Given the description of an element on the screen output the (x, y) to click on. 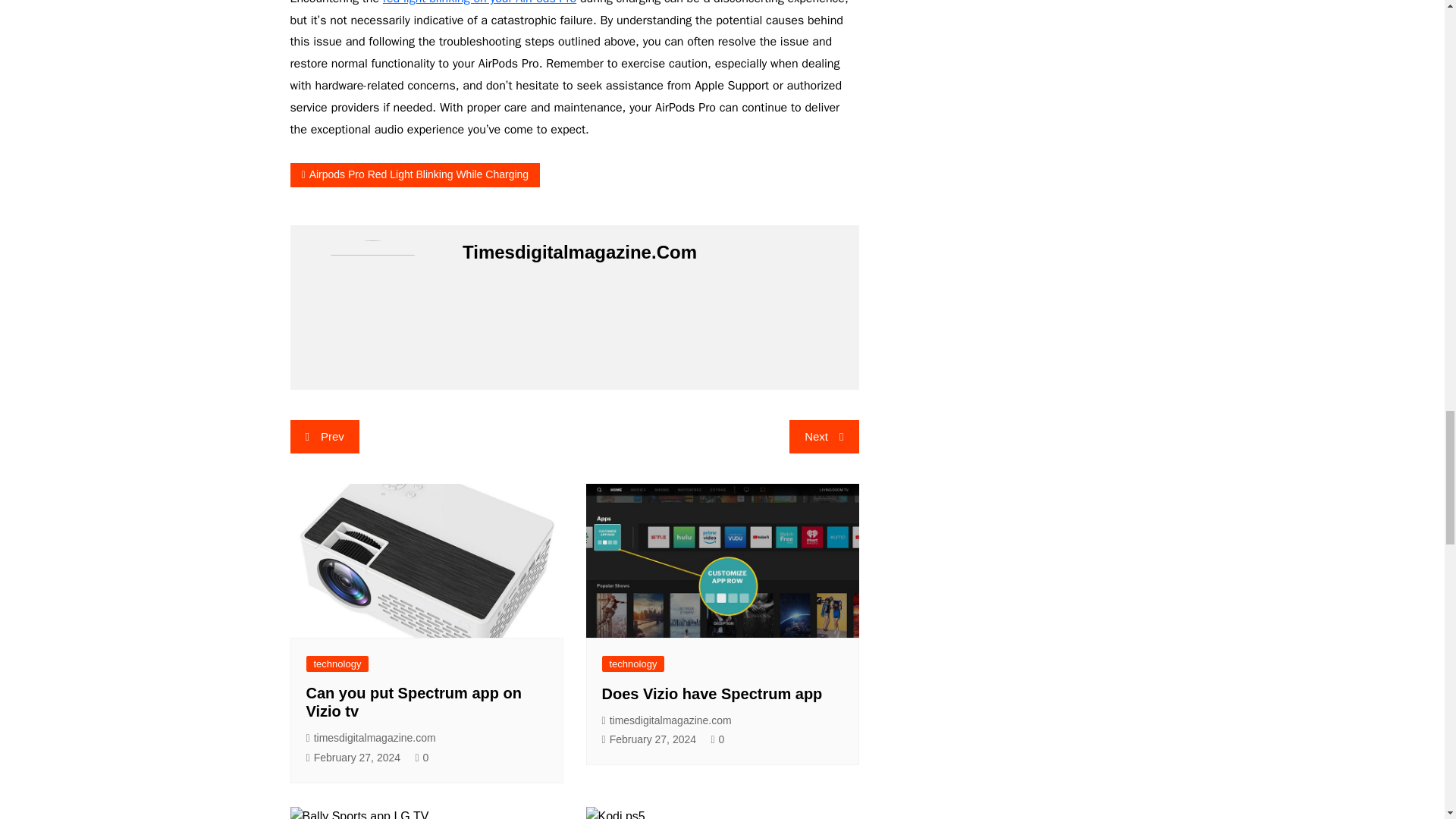
Prev (323, 436)
technology (633, 663)
timesdigitalmagazine.com (370, 737)
Airpods Pro Red Light Blinking While Charging (414, 174)
Next (824, 436)
February 27, 2024 (353, 757)
red light blinking on your AirPods Pro (479, 2)
Can you put Spectrum app on Vizio tv (413, 701)
timesdigitalmagazine.com (667, 719)
Does Vizio have Spectrum app (712, 693)
technology (337, 663)
